Given the description of an element on the screen output the (x, y) to click on. 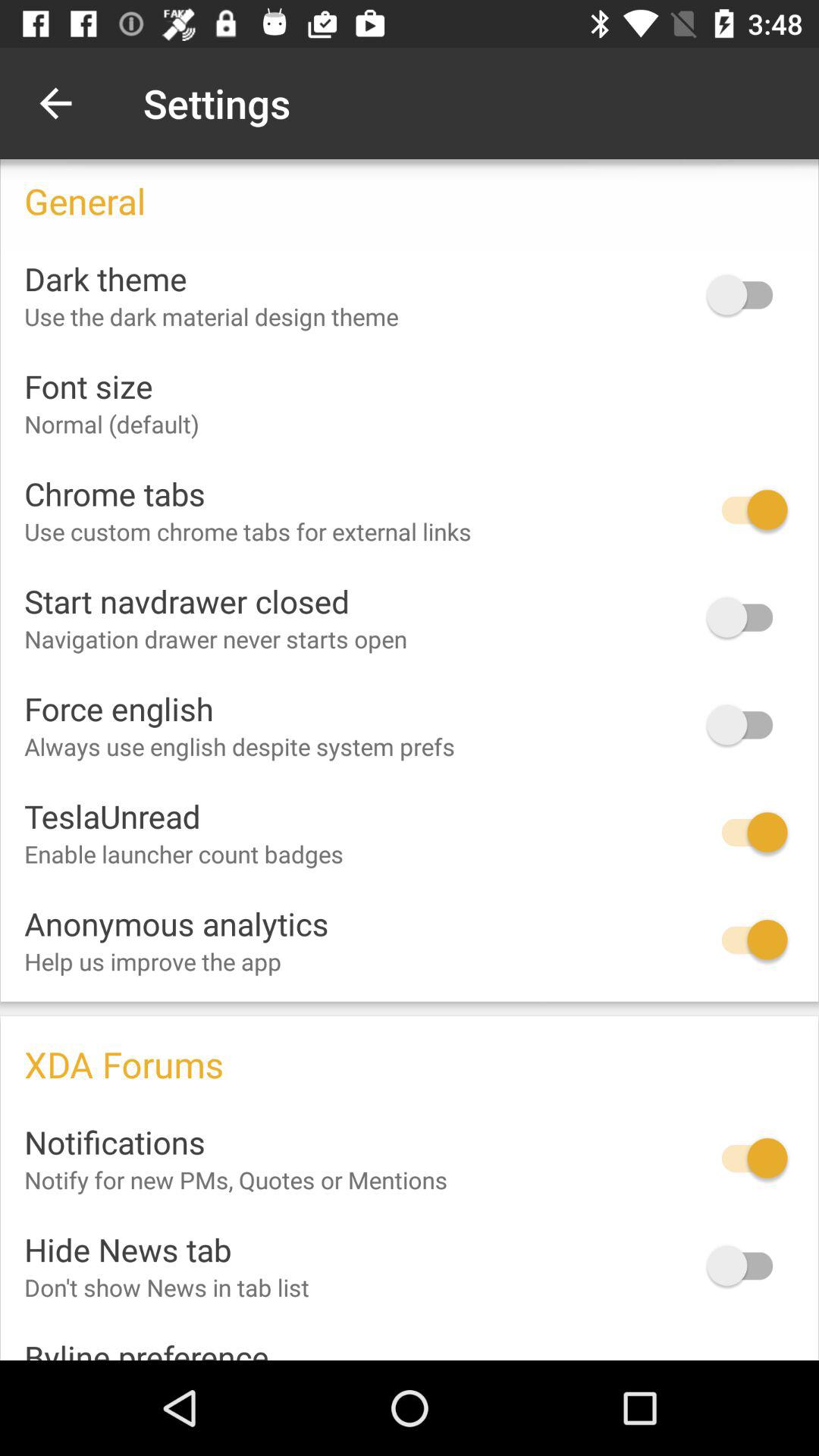
enable launcher count badges (747, 832)
